Given the description of an element on the screen output the (x, y) to click on. 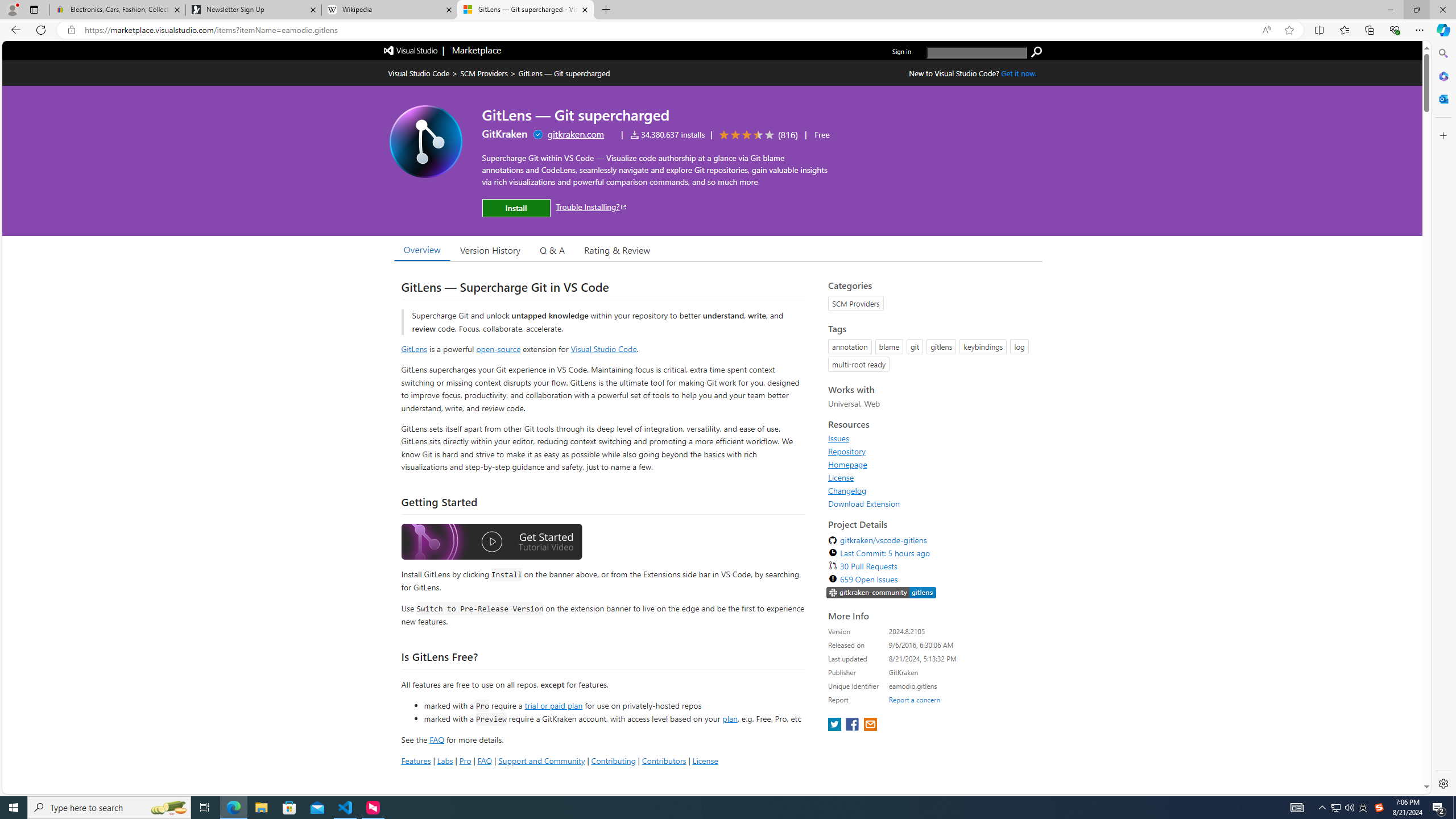
share extension on email (869, 725)
Support and Community (541, 760)
